Given the description of an element on the screen output the (x, y) to click on. 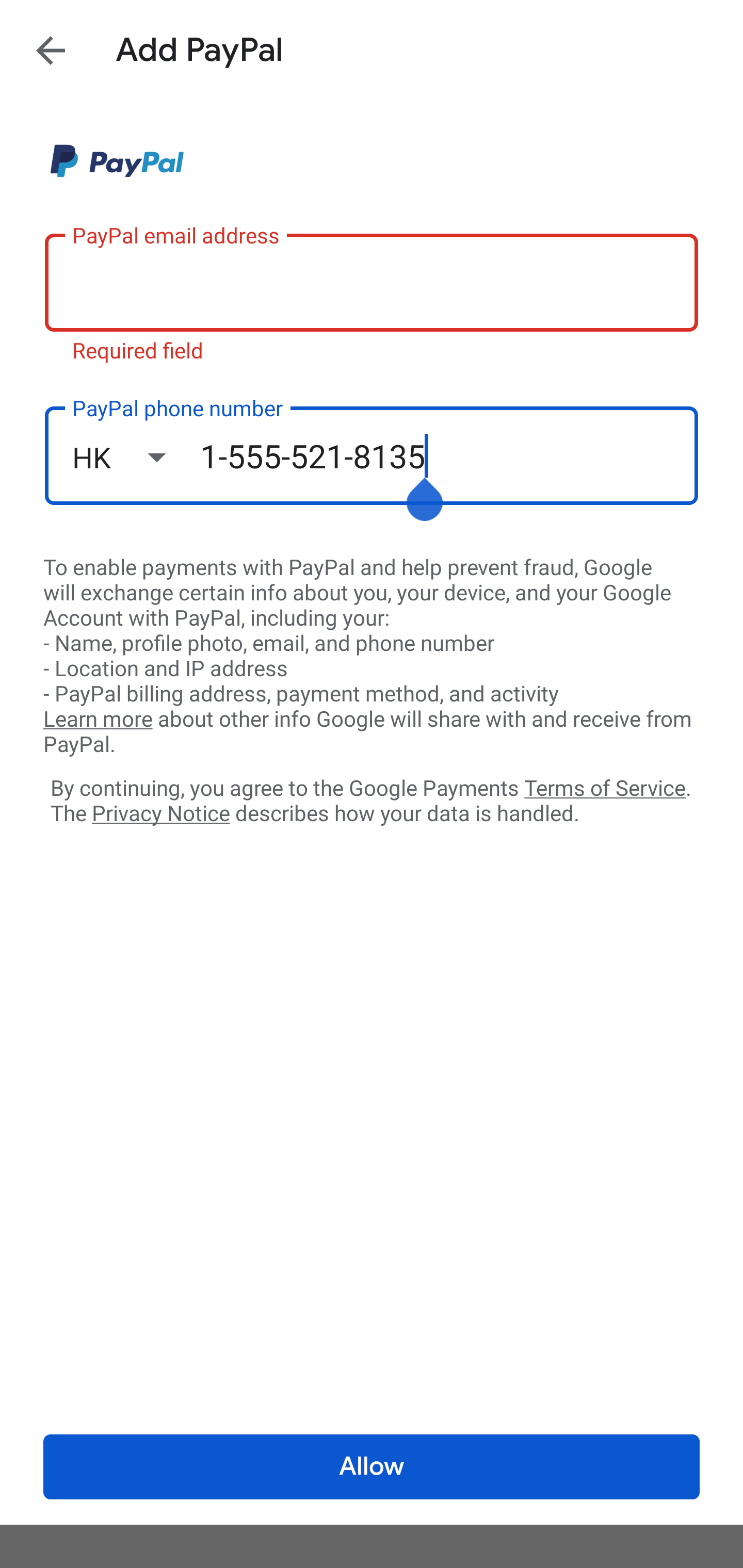
Navigate up (50, 50)
HK (135, 456)
Learn more (97, 719)
Terms of Service (604, 787)
Privacy Notice (160, 814)
Allow (371, 1466)
